Given the description of an element on the screen output the (x, y) to click on. 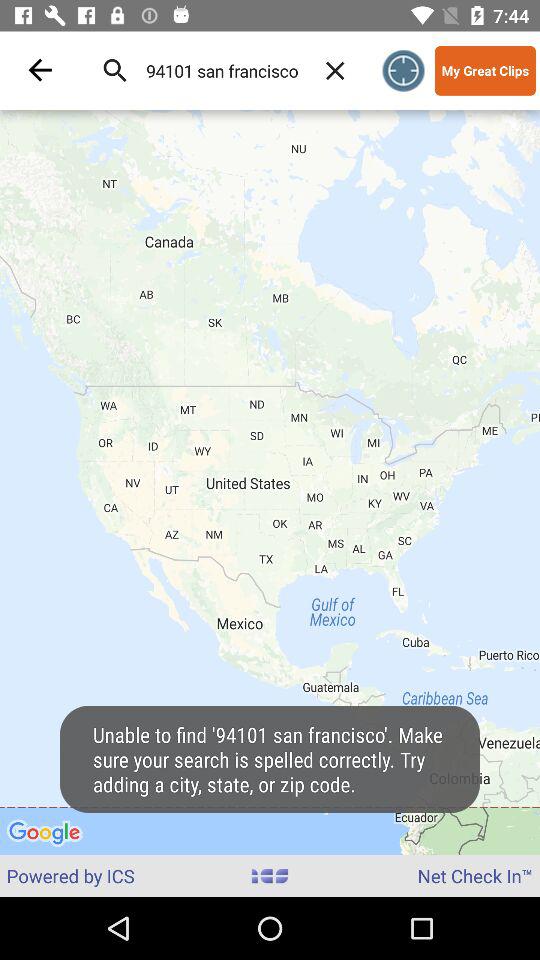
turn off my great clips icon (485, 70)
